Given the description of an element on the screen output the (x, y) to click on. 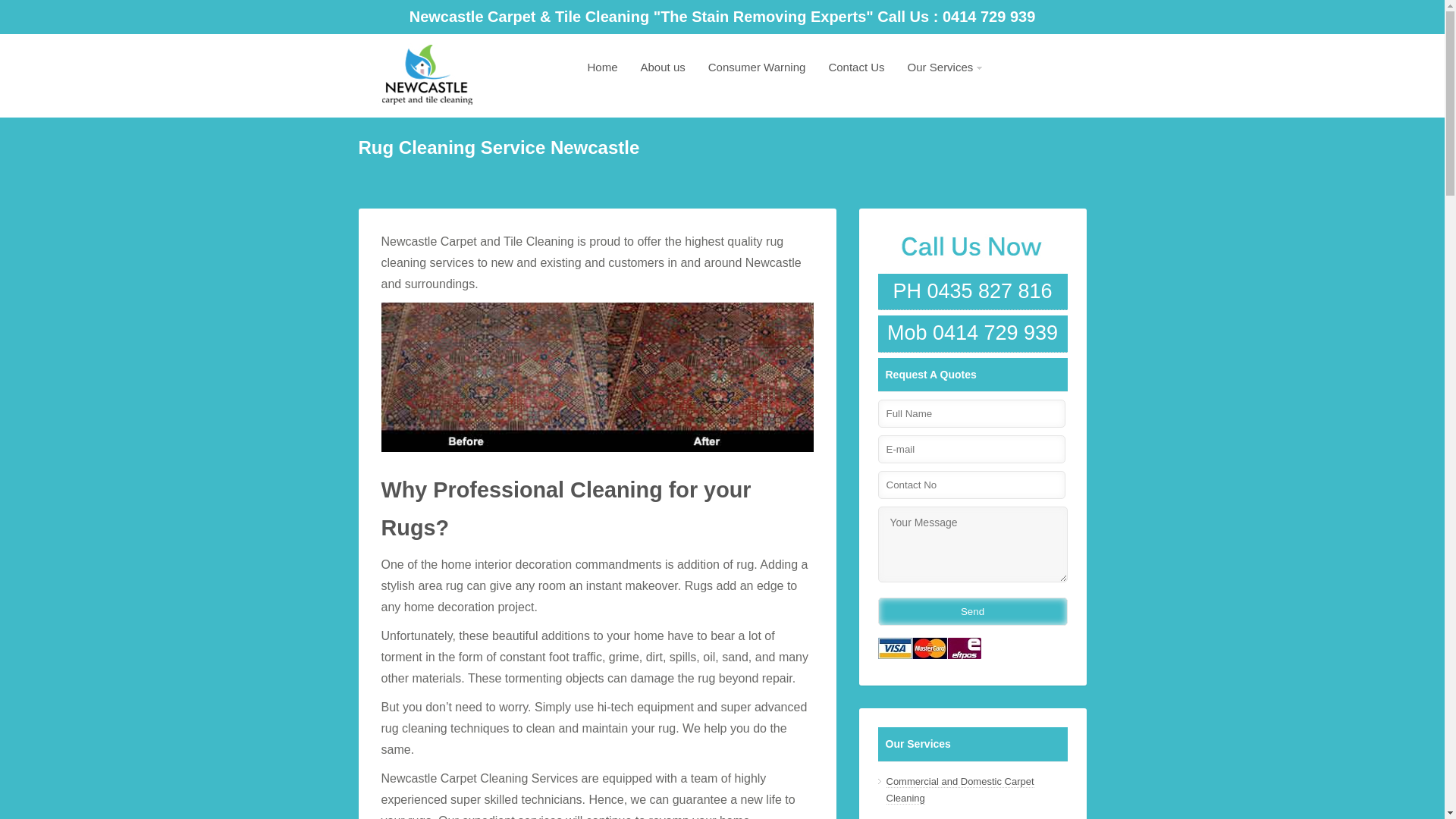
PH 0435 827 816 Element type: text (972, 291)
0414 729 939 Element type: text (988, 16)
Commercial and Domestic Carpet Cleaning Element type: text (959, 789)
Send Element type: text (972, 611)
Home Element type: text (602, 67)
Consumer Warning Element type: text (756, 67)
Mob 0414 729 939 Element type: text (972, 333)
About us Element type: text (662, 67)
Contact Us Element type: text (855, 67)
